Given the description of an element on the screen output the (x, y) to click on. 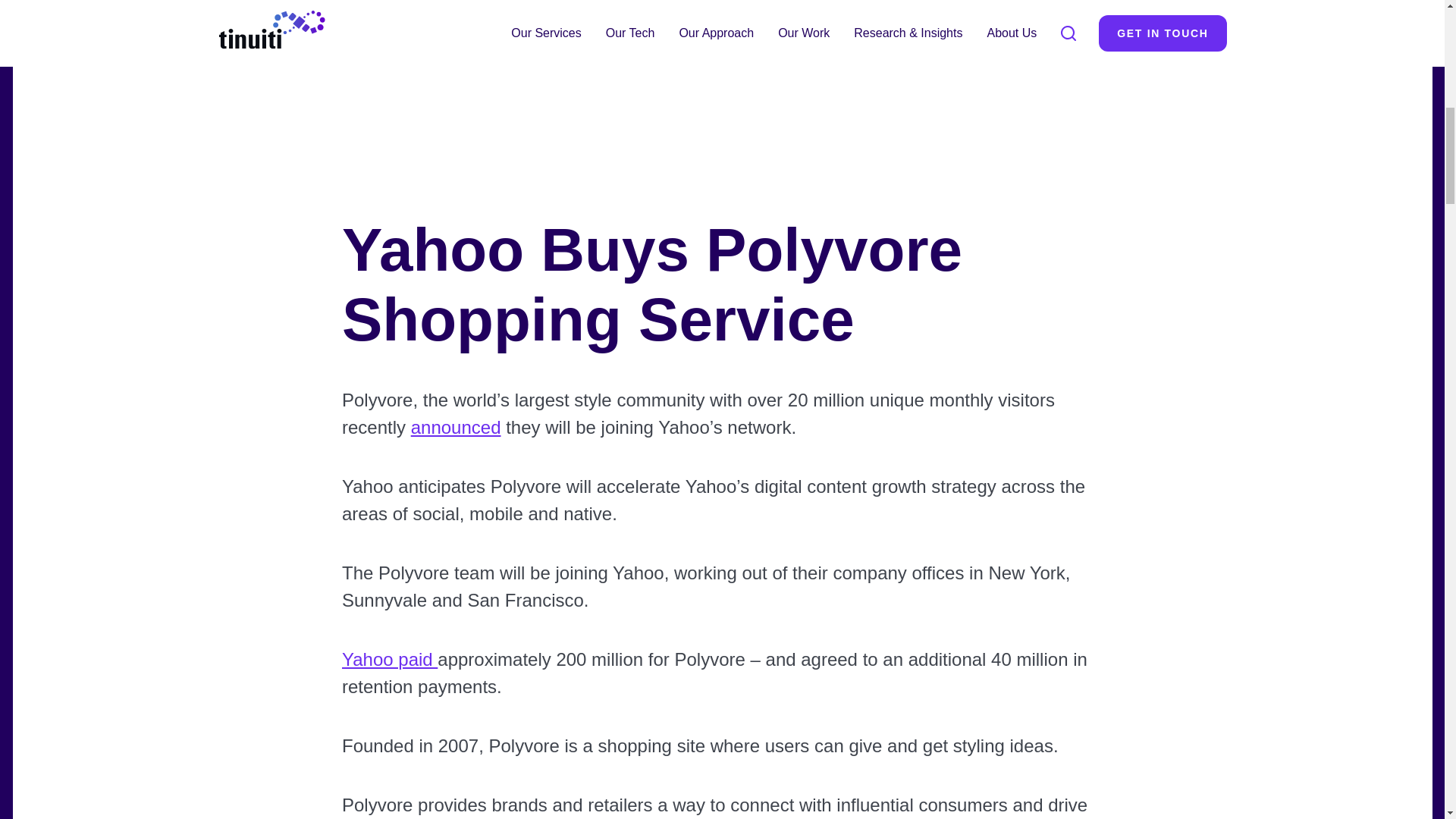
yahoo-polyvore (388, 659)
yahoo-polyvore (455, 426)
